Given the description of an element on the screen output the (x, y) to click on. 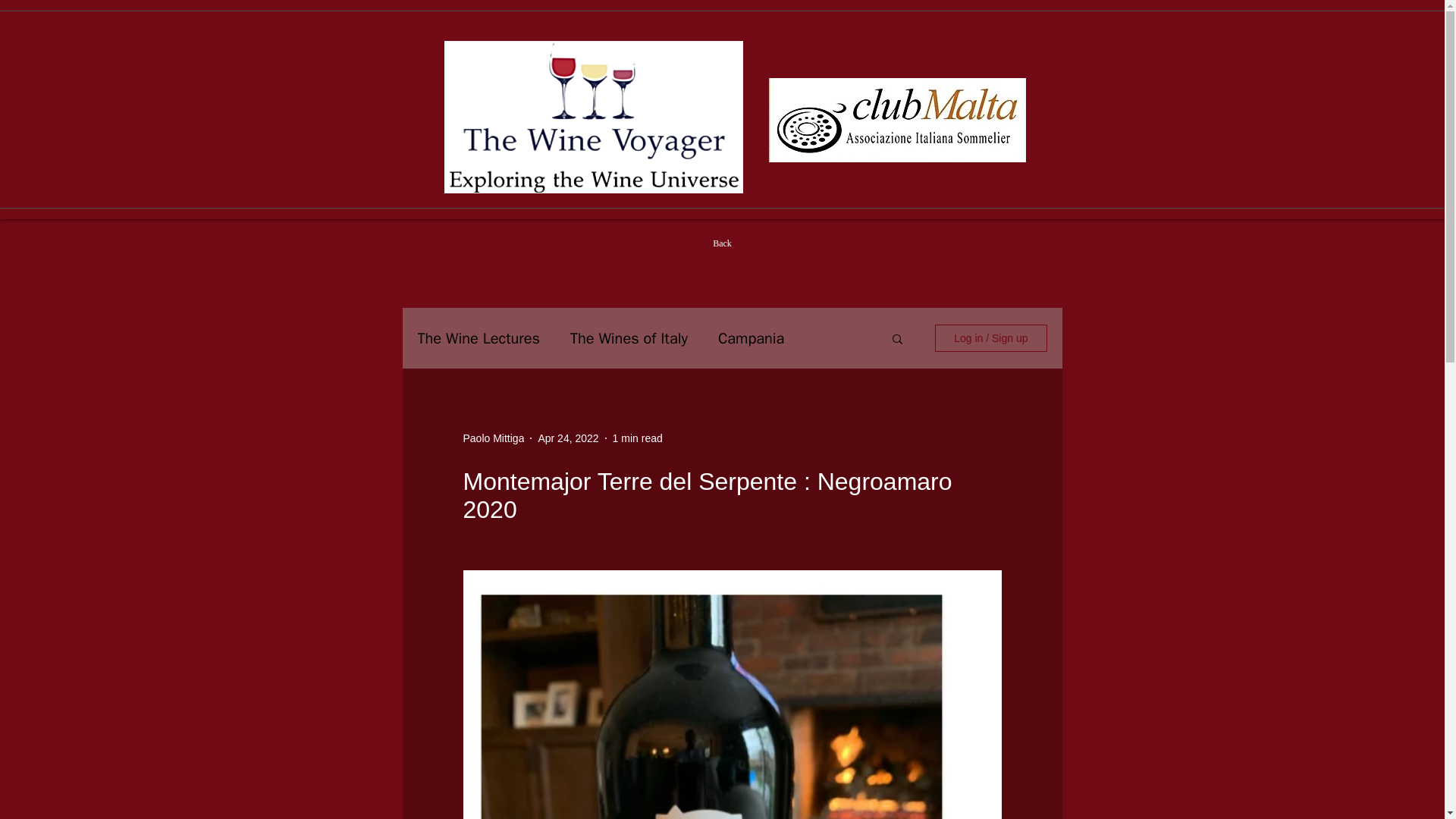
Paolo Mittiga (493, 438)
Wine Voyager (593, 116)
Campania (750, 337)
Paolo Mittiga (493, 438)
The Wines of Italy (628, 337)
Back (722, 243)
The Wine Lectures (477, 337)
1 min read (637, 438)
Apr 24, 2022 (567, 438)
